Given the description of an element on the screen output the (x, y) to click on. 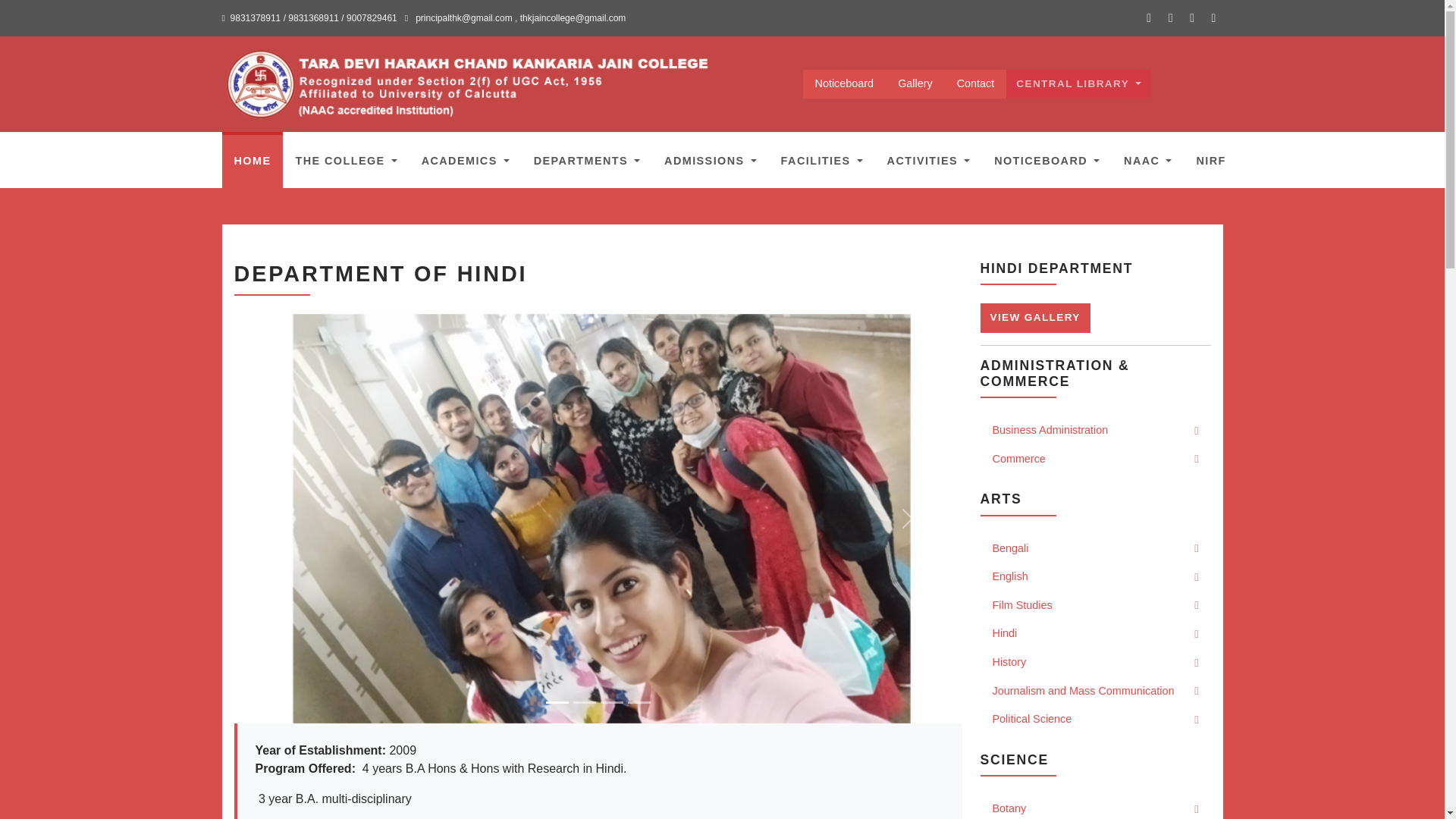
Email (1213, 18)
Facebook (1148, 18)
YouTube (1191, 18)
THE COLLEGE (345, 159)
HOME (251, 159)
Gallery (914, 83)
CENTRAL LIBRARY (1078, 83)
ACADEMICS (465, 159)
Contact (975, 83)
Instagram (1170, 18)
Noticeboard (844, 83)
